Given the description of an element on the screen output the (x, y) to click on. 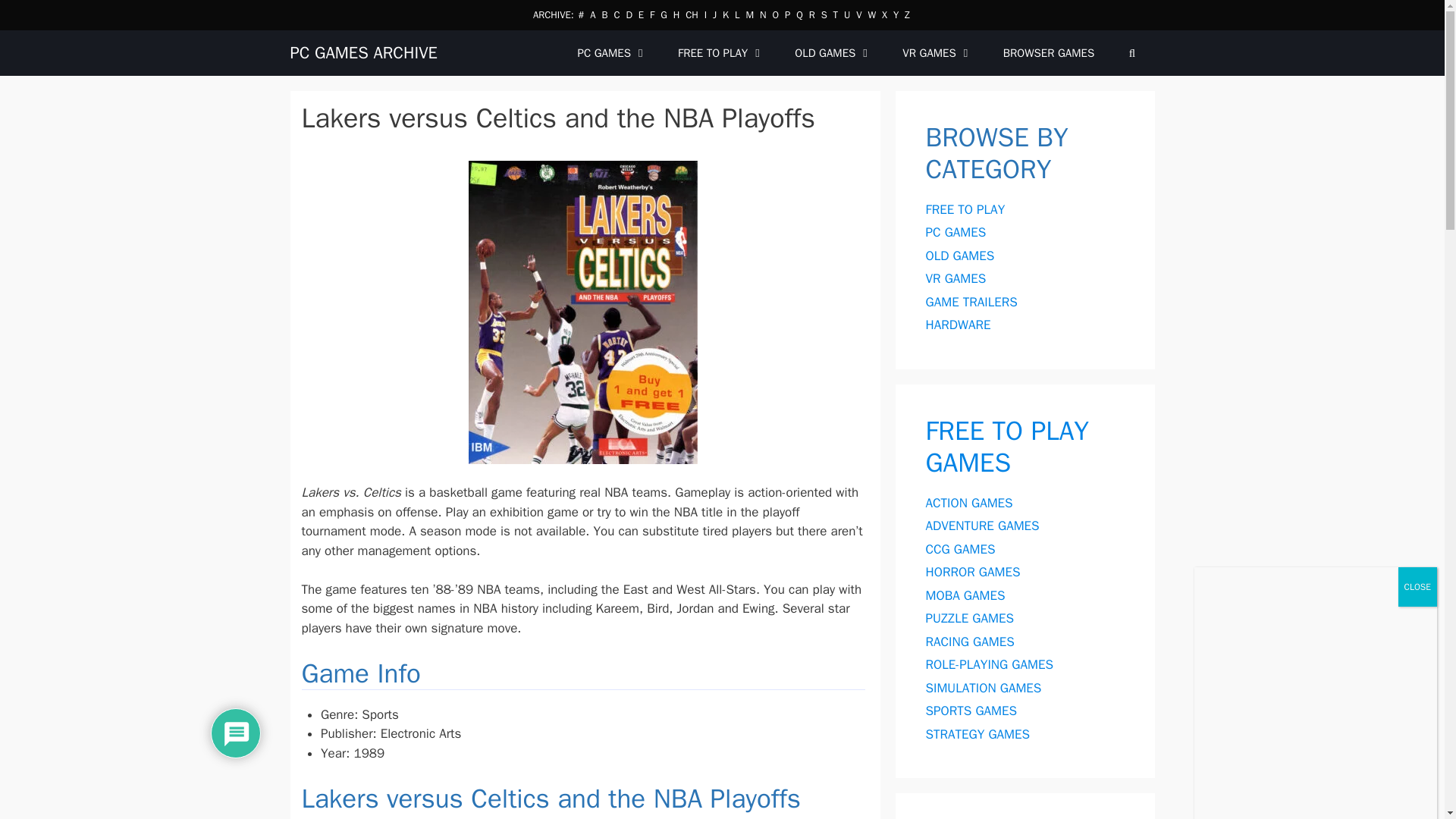
PC GAMES ARCHIVE (362, 52)
PC GAMES (612, 53)
CH (691, 14)
